Given the description of an element on the screen output the (x, y) to click on. 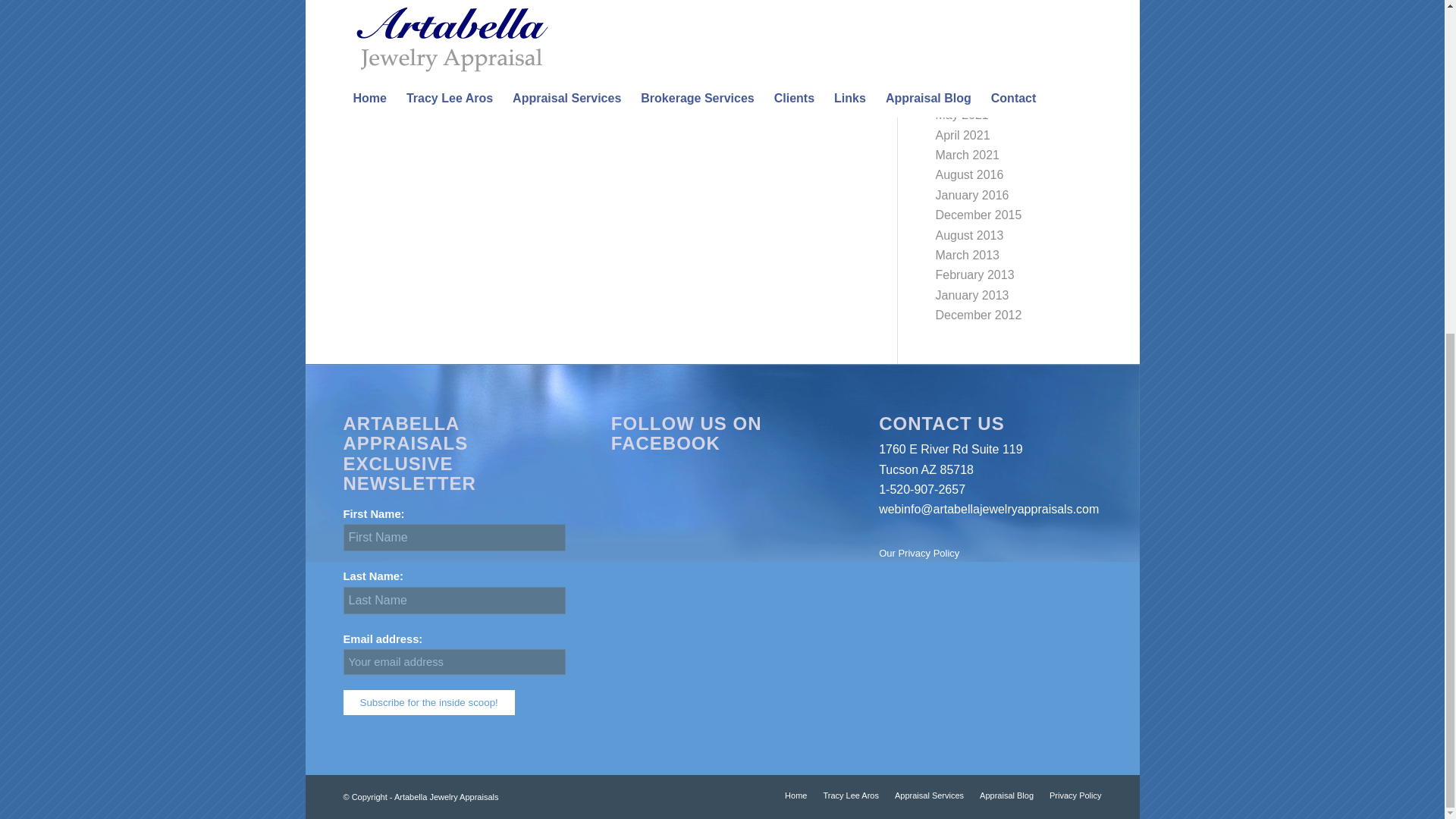
Subscribe for the inside scoop! (427, 702)
